Given the description of an element on the screen output the (x, y) to click on. 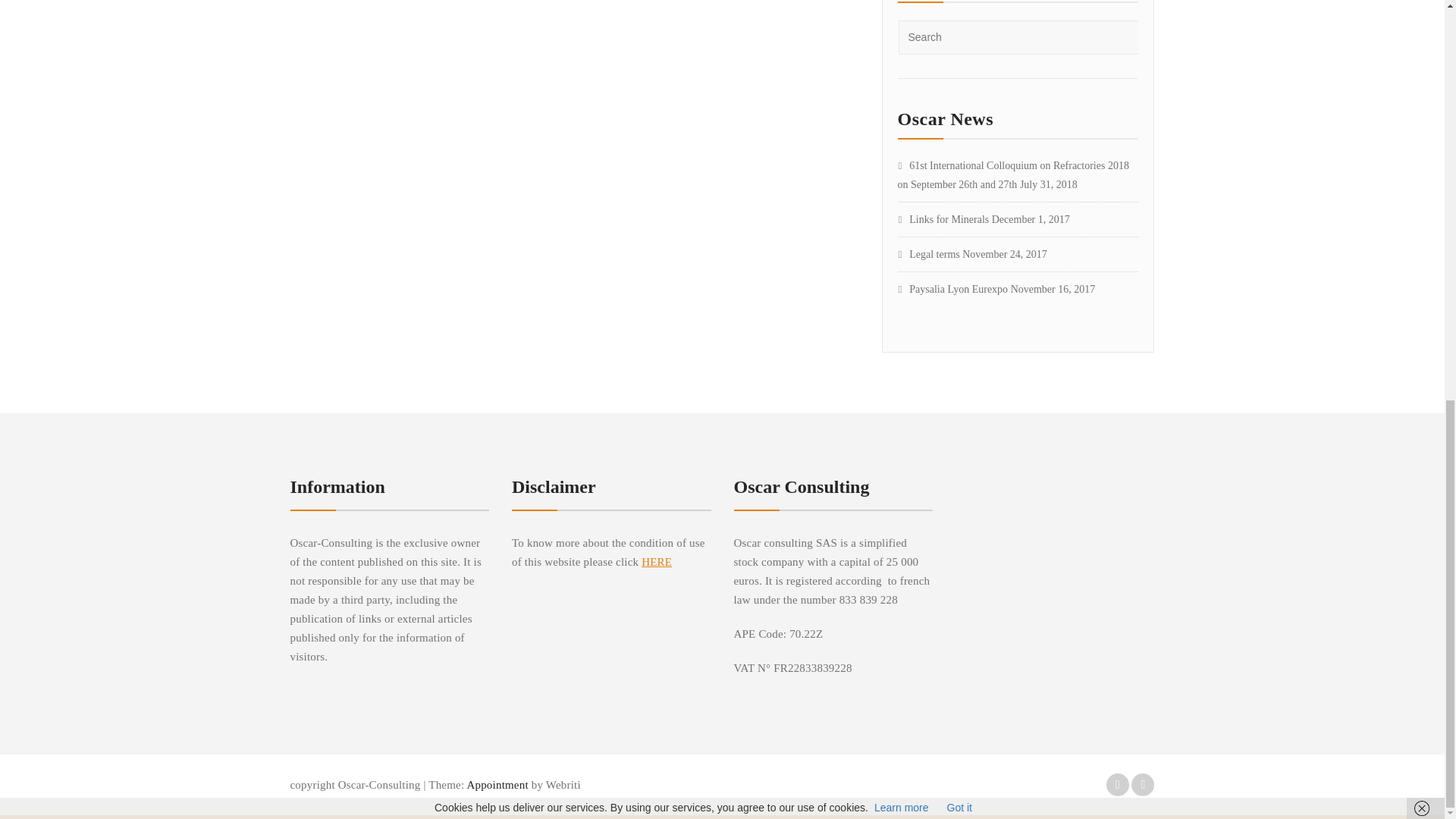
Got it (959, 24)
Learn more (901, 24)
Appointment (495, 784)
Links for Minerals (944, 219)
Paysalia Lyon Eurexpo (953, 288)
Legal terms (928, 254)
HERE (656, 562)
